Given the description of an element on the screen output the (x, y) to click on. 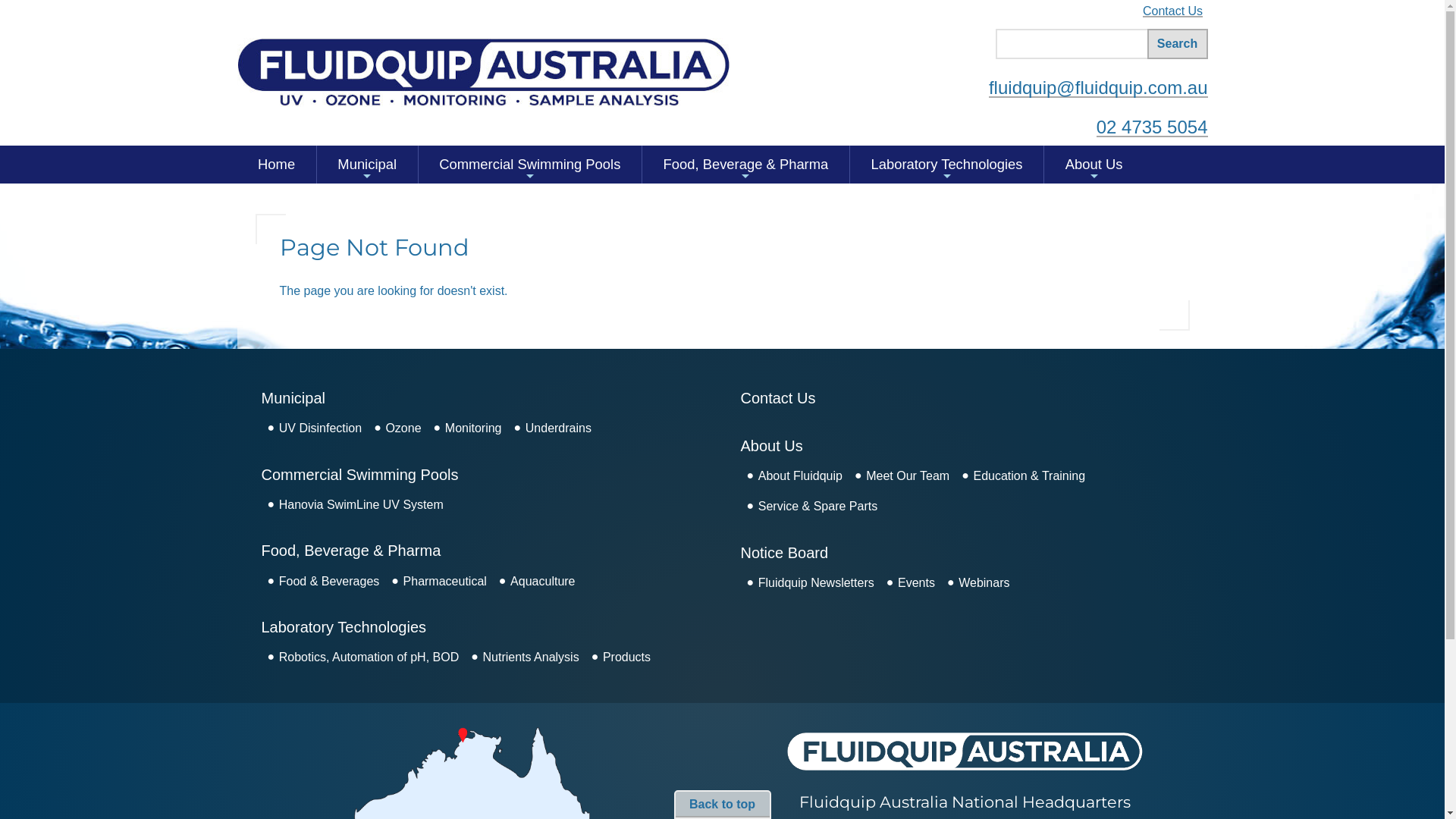
Webinars Element type: text (983, 582)
Laboratory Technologies Element type: text (946, 164)
Search Element type: text (1176, 43)
Food, Beverage & Pharma Element type: text (350, 550)
fluidquip@fluidquip.com.au Element type: text (1098, 87)
Municipal Element type: text (292, 397)
Service & Spare Parts Element type: text (817, 505)
Commercial Swimming Pools Element type: text (359, 474)
Food, Beverage & Pharma Element type: text (745, 164)
Commercial Swimming Pools Element type: text (529, 164)
Events Element type: text (916, 582)
Hanovia SwimLine UV System Element type: text (361, 504)
Education & Training Element type: text (1028, 475)
Pharmaceutical Element type: text (444, 580)
Municipal Element type: text (366, 164)
Home Element type: text (275, 164)
02 4735 5054 Element type: text (1152, 126)
About Us Element type: text (771, 445)
Contact Us Element type: text (1172, 10)
Ozone Element type: text (402, 427)
UV Disinfection Element type: text (320, 427)
Meet Our Team Element type: text (907, 475)
Robotics, Automation of pH, BOD Element type: text (368, 656)
About Fluidquip Element type: text (800, 475)
Aquaculture Element type: text (542, 580)
Laboratory Technologies Element type: text (343, 626)
Underdrains Element type: text (558, 427)
Products Element type: text (626, 656)
Monitoring Element type: text (473, 427)
About Us Element type: text (1093, 164)
Notice Board Element type: text (784, 552)
Contact Us Element type: text (777, 397)
Nutrients Analysis Element type: text (530, 656)
Food & Beverages Element type: text (329, 580)
Fluidquip Newsletters Element type: text (816, 582)
Back to top Element type: text (721, 804)
